Given the description of an element on the screen output the (x, y) to click on. 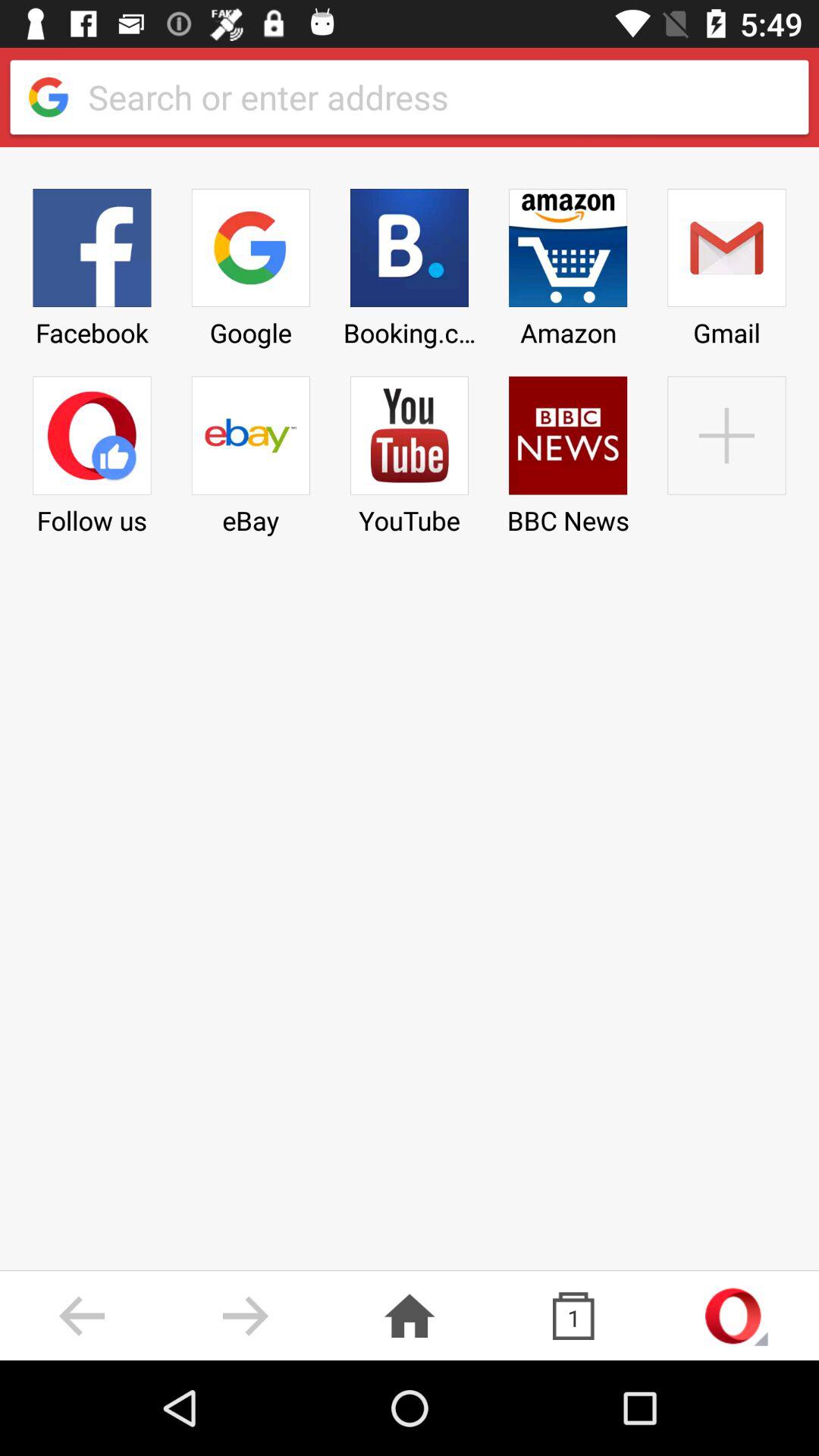
tap the item next to the google item (409, 262)
